Given the description of an element on the screen output the (x, y) to click on. 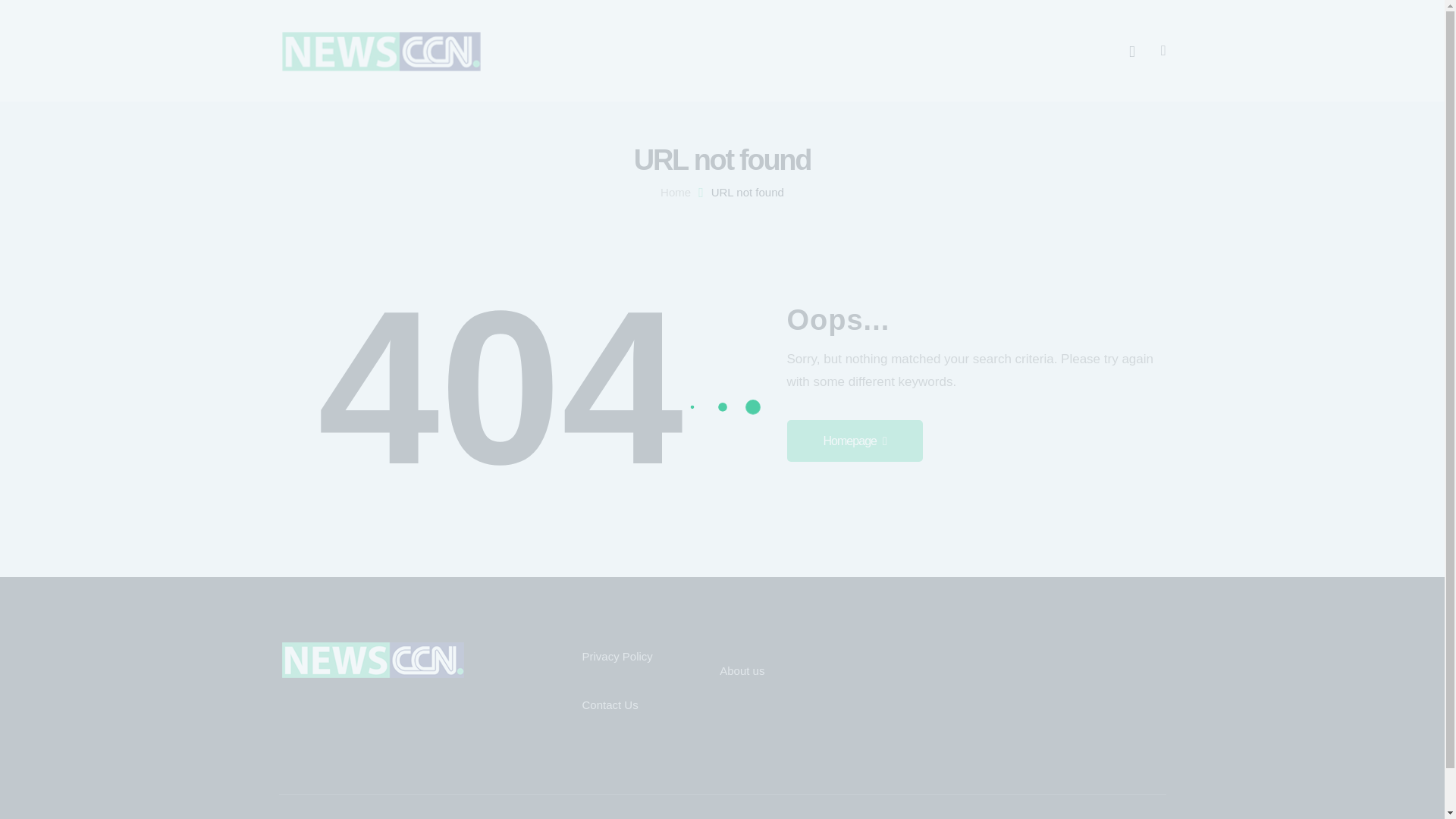
Home (675, 192)
